Given the description of an element on the screen output the (x, y) to click on. 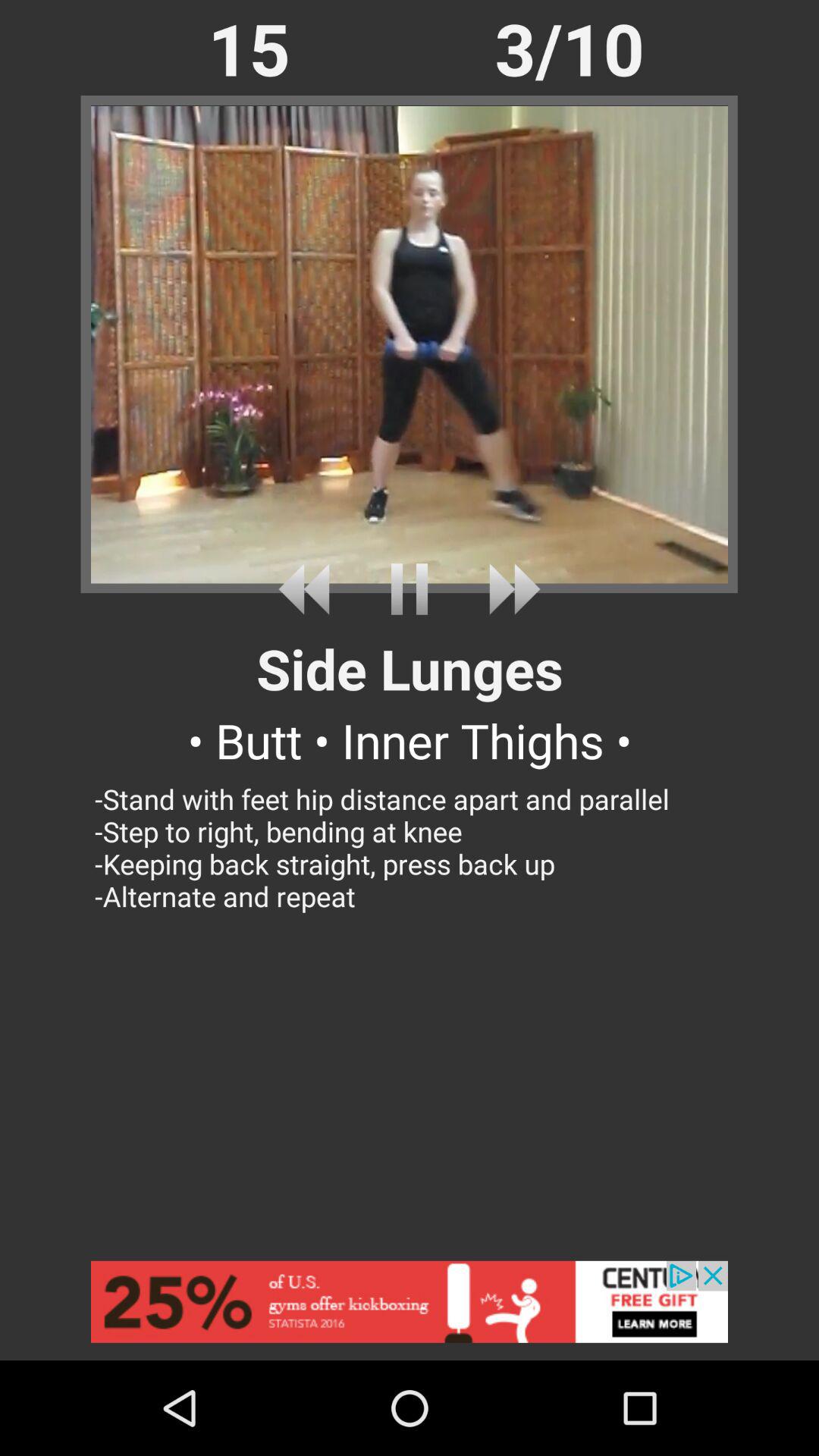
go to next (508, 589)
